Given the description of an element on the screen output the (x, y) to click on. 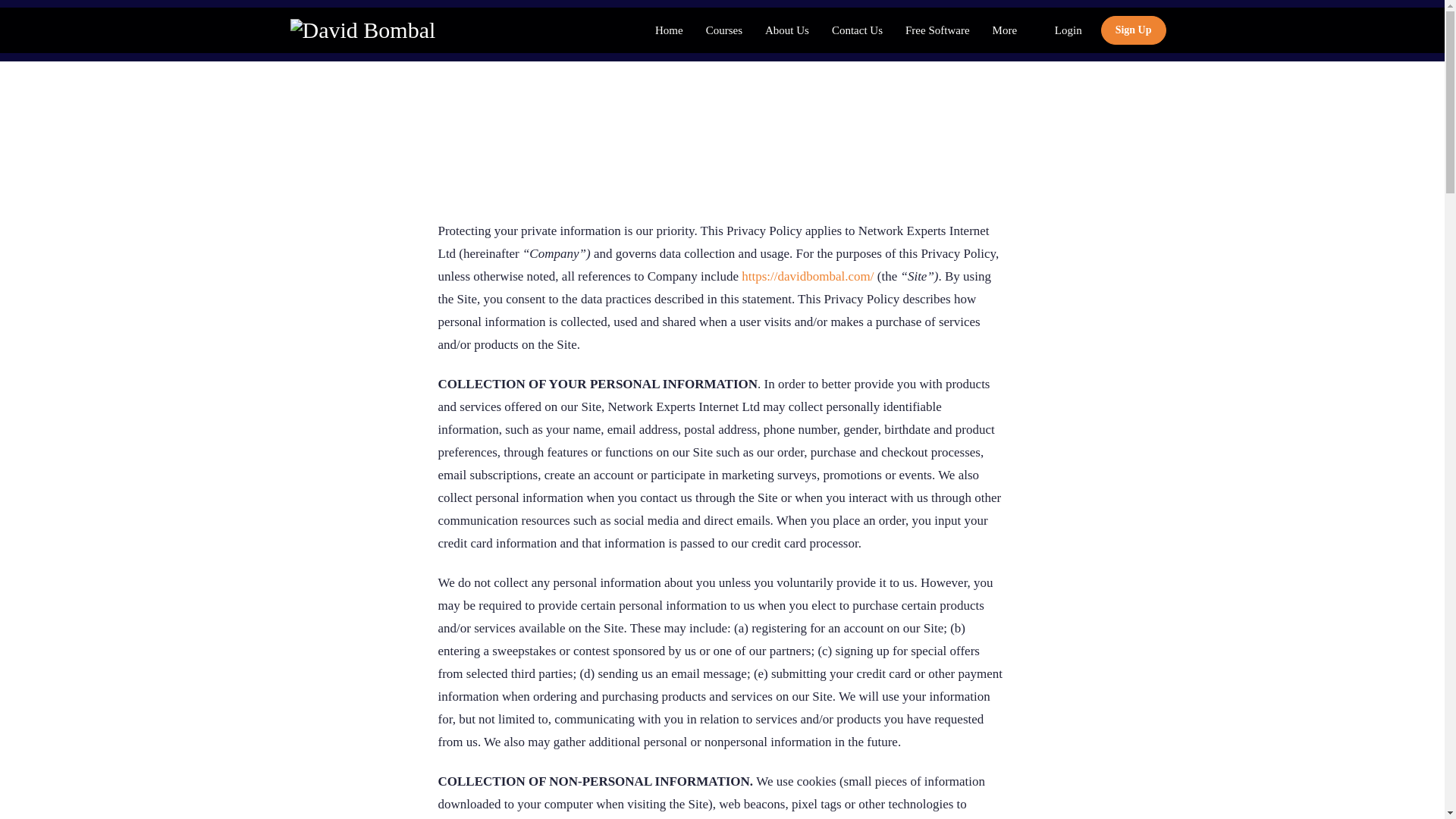
Sign Up (1133, 30)
More (1012, 30)
About Us (787, 30)
Login (1068, 30)
Free Software (937, 30)
Home (668, 30)
Contact Us (857, 30)
Courses (724, 30)
